Given the description of an element on the screen output the (x, y) to click on. 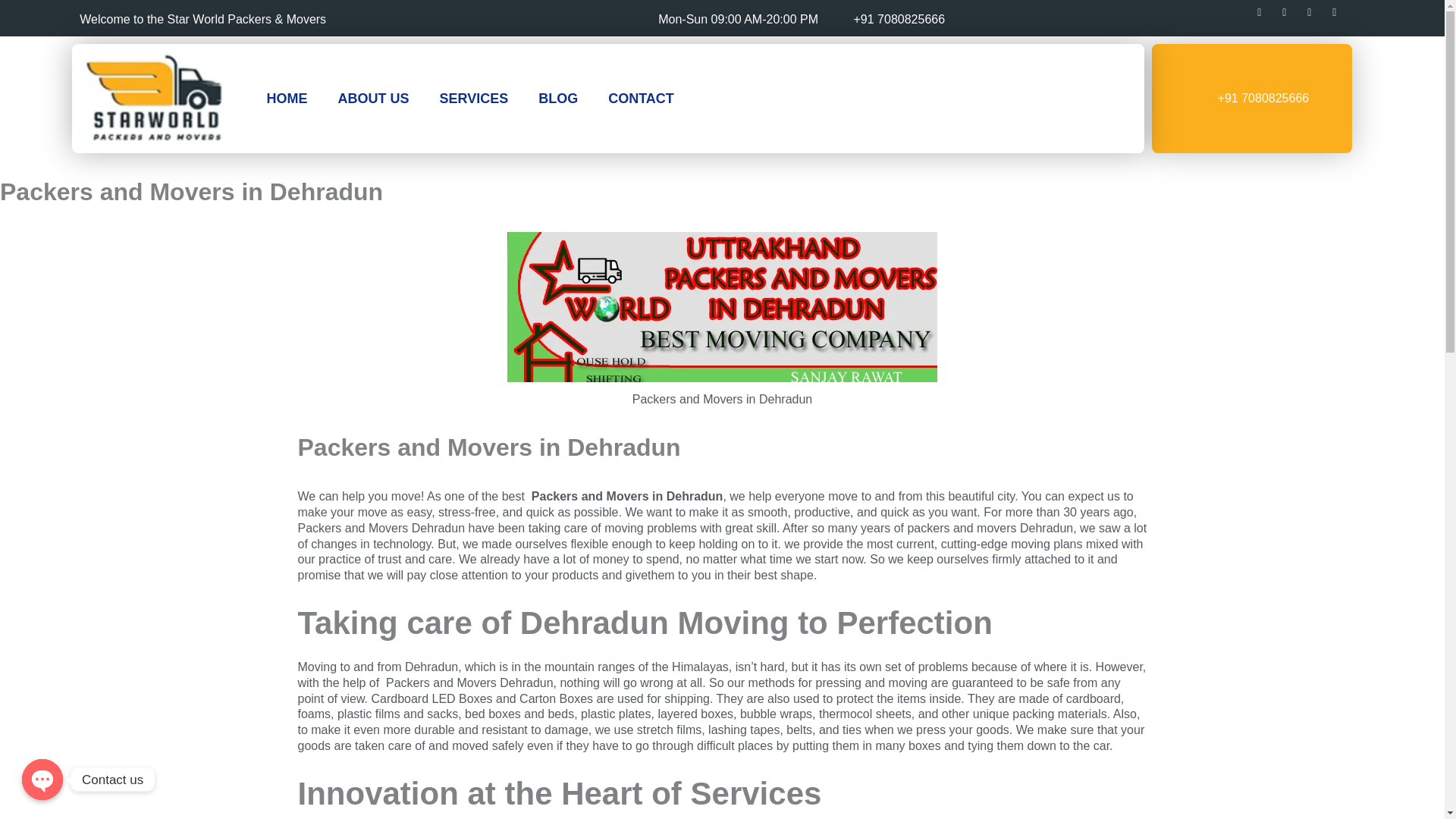
Logo1 (157, 98)
SERVICES (472, 98)
HOME (285, 98)
BLOG (557, 98)
CONTACT (640, 98)
ABOUT US (372, 98)
